Given the description of an element on the screen output the (x, y) to click on. 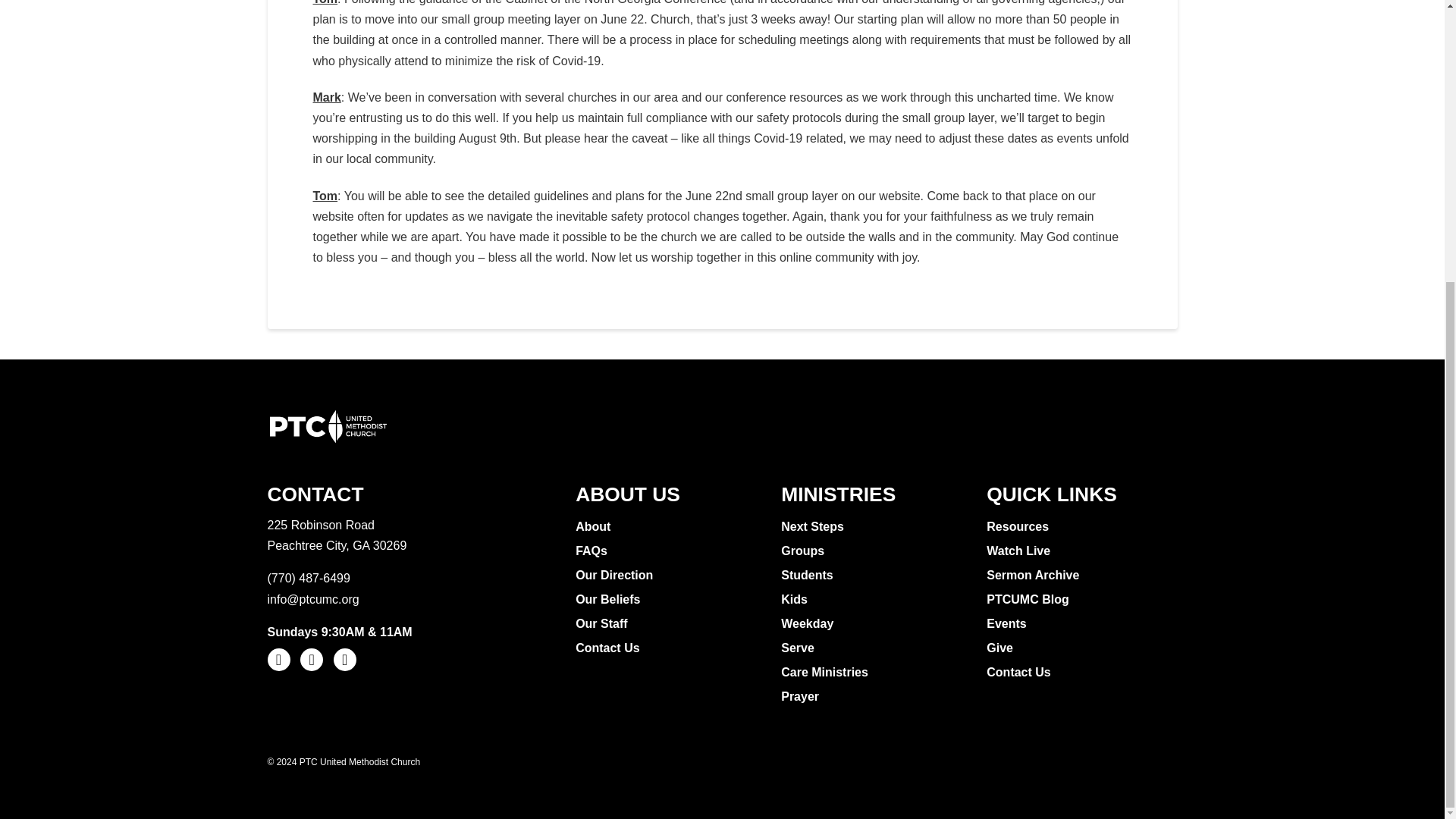
Give (1001, 648)
PTCUMC Blog (1029, 599)
Groups (804, 550)
FAQs (593, 550)
Serve (799, 648)
Contact Us (609, 648)
Our Staff (602, 623)
Next Steps (813, 526)
Prayer (801, 696)
Resources (1019, 526)
Students (807, 575)
Sermon Archive (1035, 575)
Watch Live (1020, 550)
Our Beliefs (609, 599)
Our Direction (615, 575)
